Given the description of an element on the screen output the (x, y) to click on. 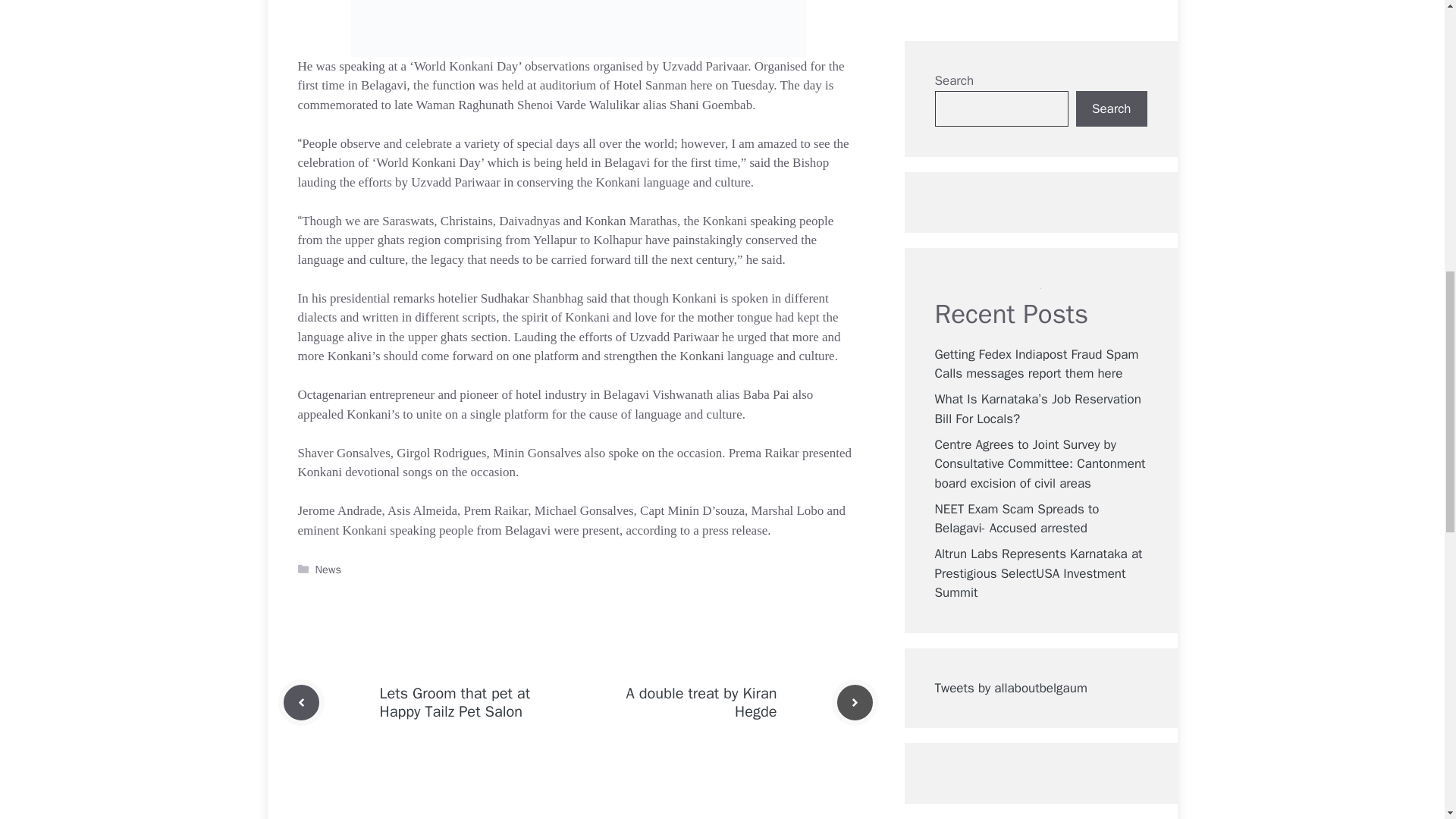
A double treat by Kiran Hegde (701, 702)
Tweets by allaboutbelgaum (1010, 227)
News (327, 569)
NEET Exam Scam Spreads to Belagavi- Accused arrested (1016, 58)
World Konkani Day 1 (577, 28)
Lets Groom that pet at Happy Tailz Pet Salon (453, 702)
